Given the description of an element on the screen output the (x, y) to click on. 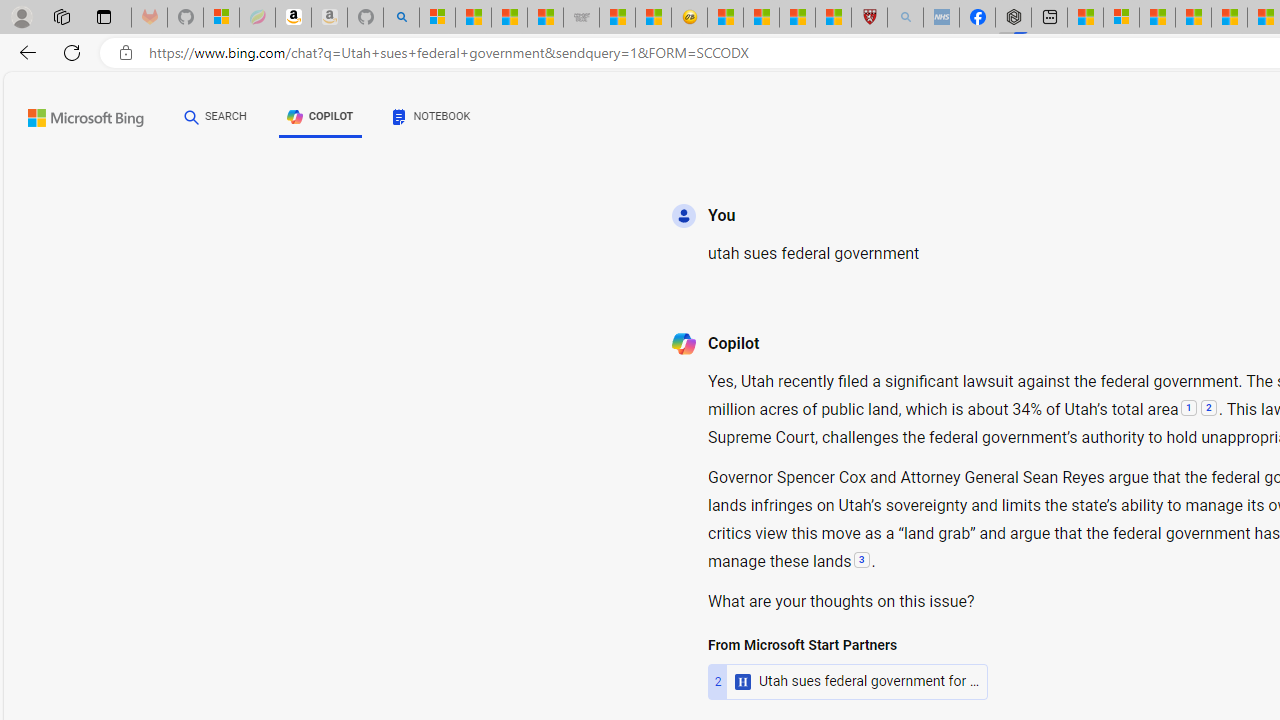
2 Utah sues federal government for control of public lands (847, 681)
